Given the description of an element on the screen output the (x, y) to click on. 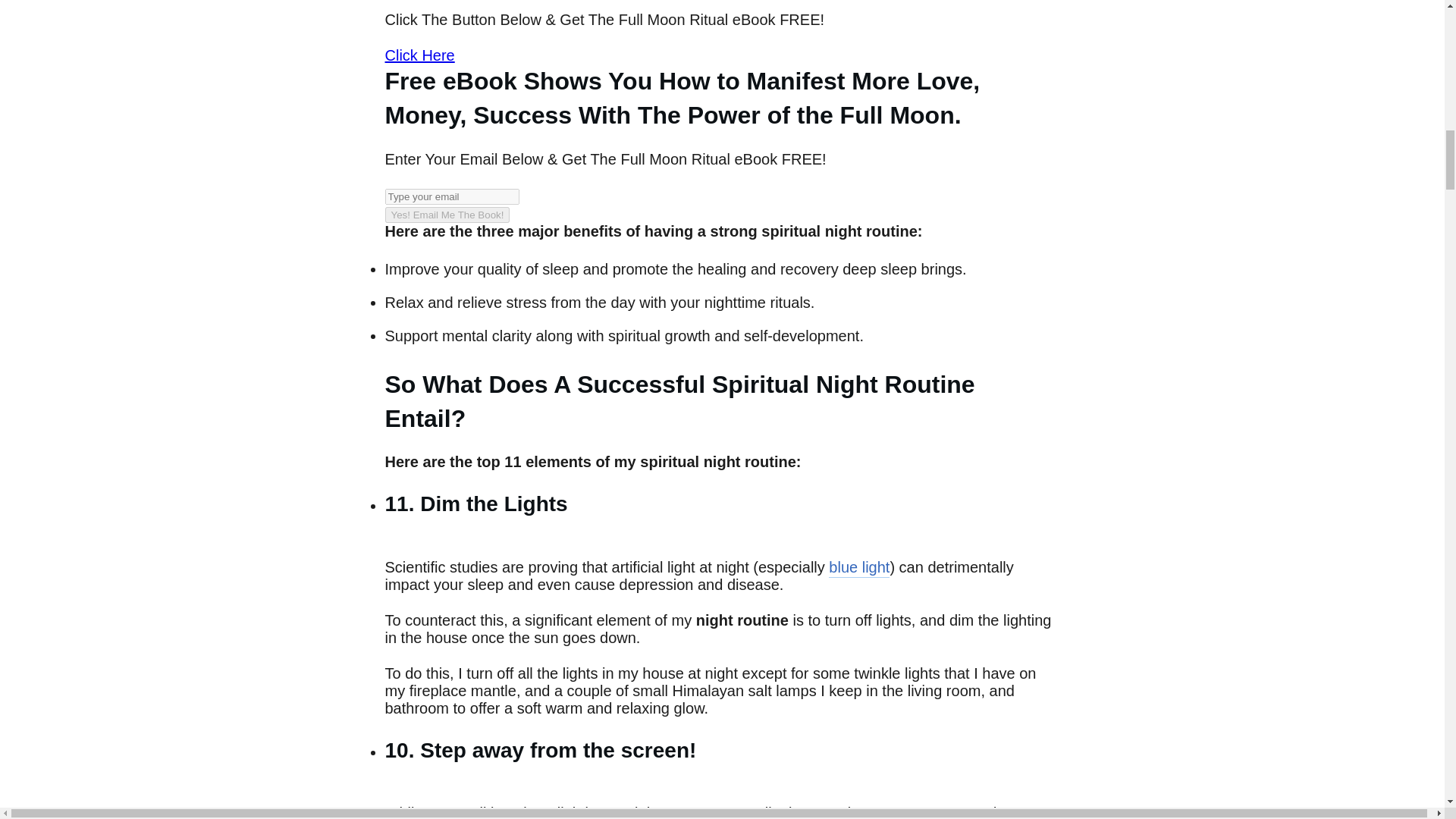
Yes! Email Me The Book! (448, 214)
blue light (858, 568)
Click Here (419, 54)
